Given the description of an element on the screen output the (x, y) to click on. 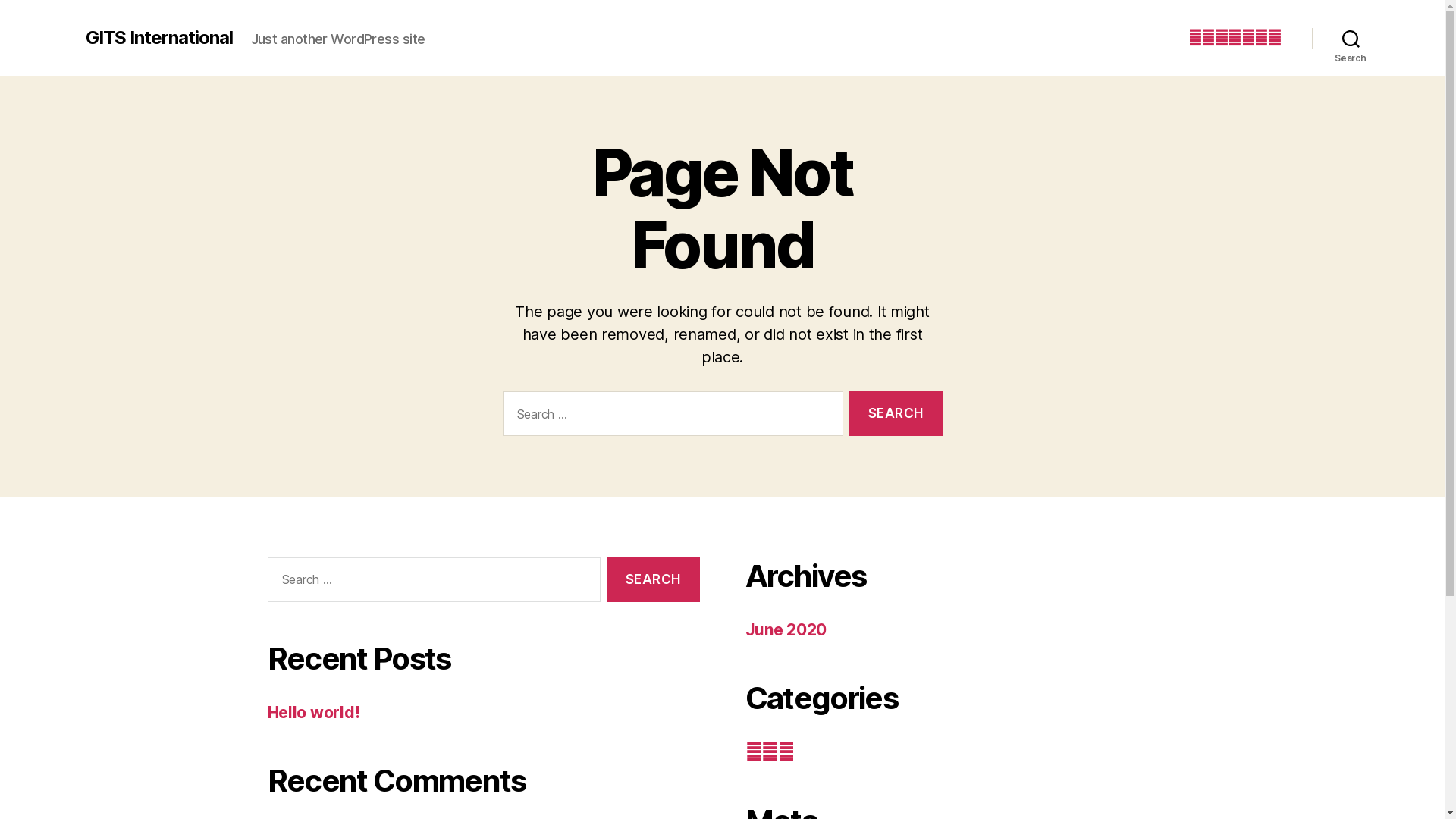
GITS International Element type: text (158, 37)
Search Element type: text (1350, 37)
Search Element type: text (652, 579)
June 2020 Element type: text (785, 629)
Hello world! Element type: text (312, 711)
Search Element type: text (895, 413)
